Given the description of an element on the screen output the (x, y) to click on. 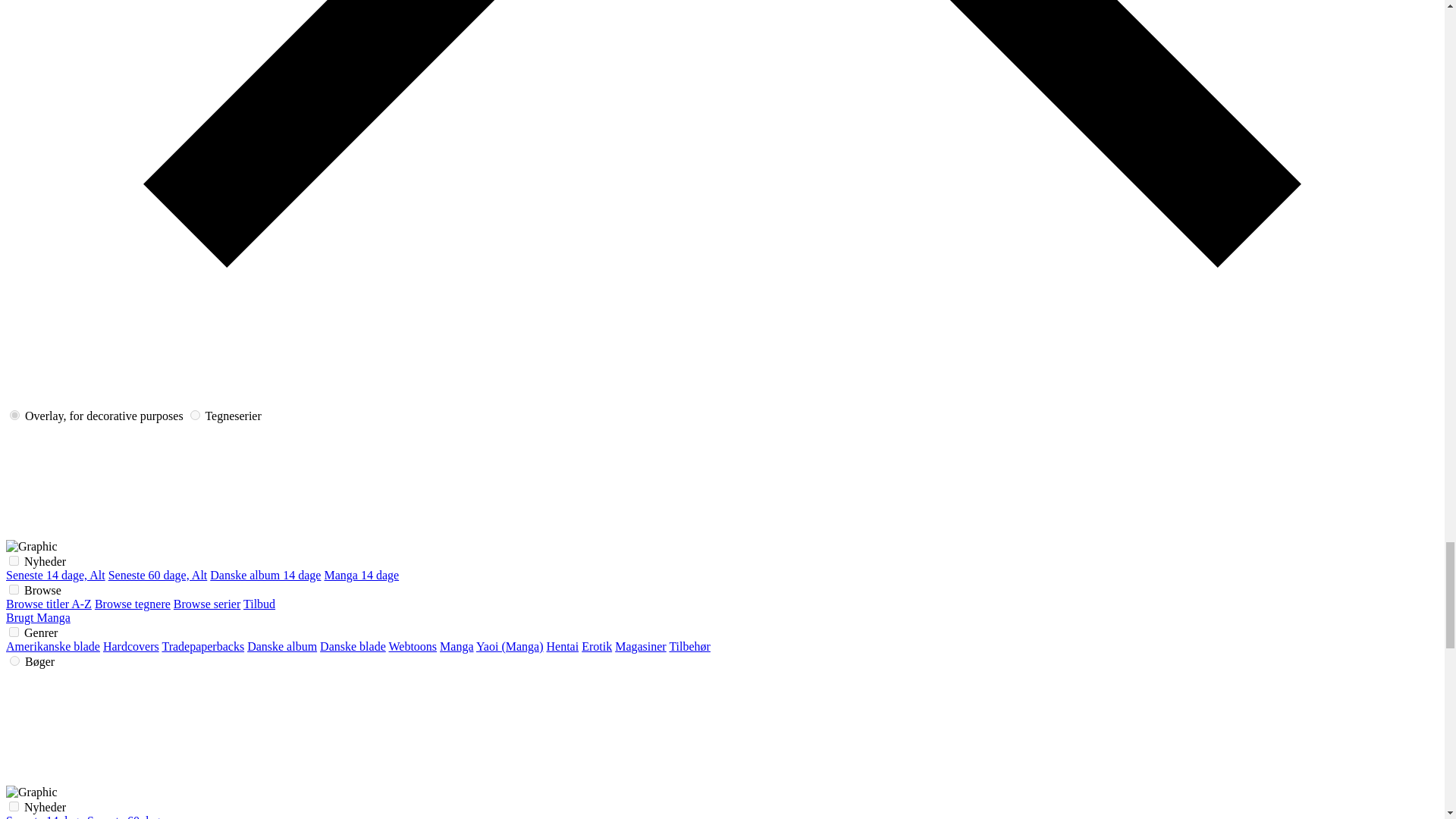
Webtoons (412, 645)
Magasiner (640, 645)
Danske blade (352, 645)
Seneste 14 dage (44, 816)
on (15, 660)
Manga 14 dage (360, 574)
on (13, 589)
on (13, 560)
Erotik (595, 645)
Browse titler A-Z (48, 603)
